Given the description of an element on the screen output the (x, y) to click on. 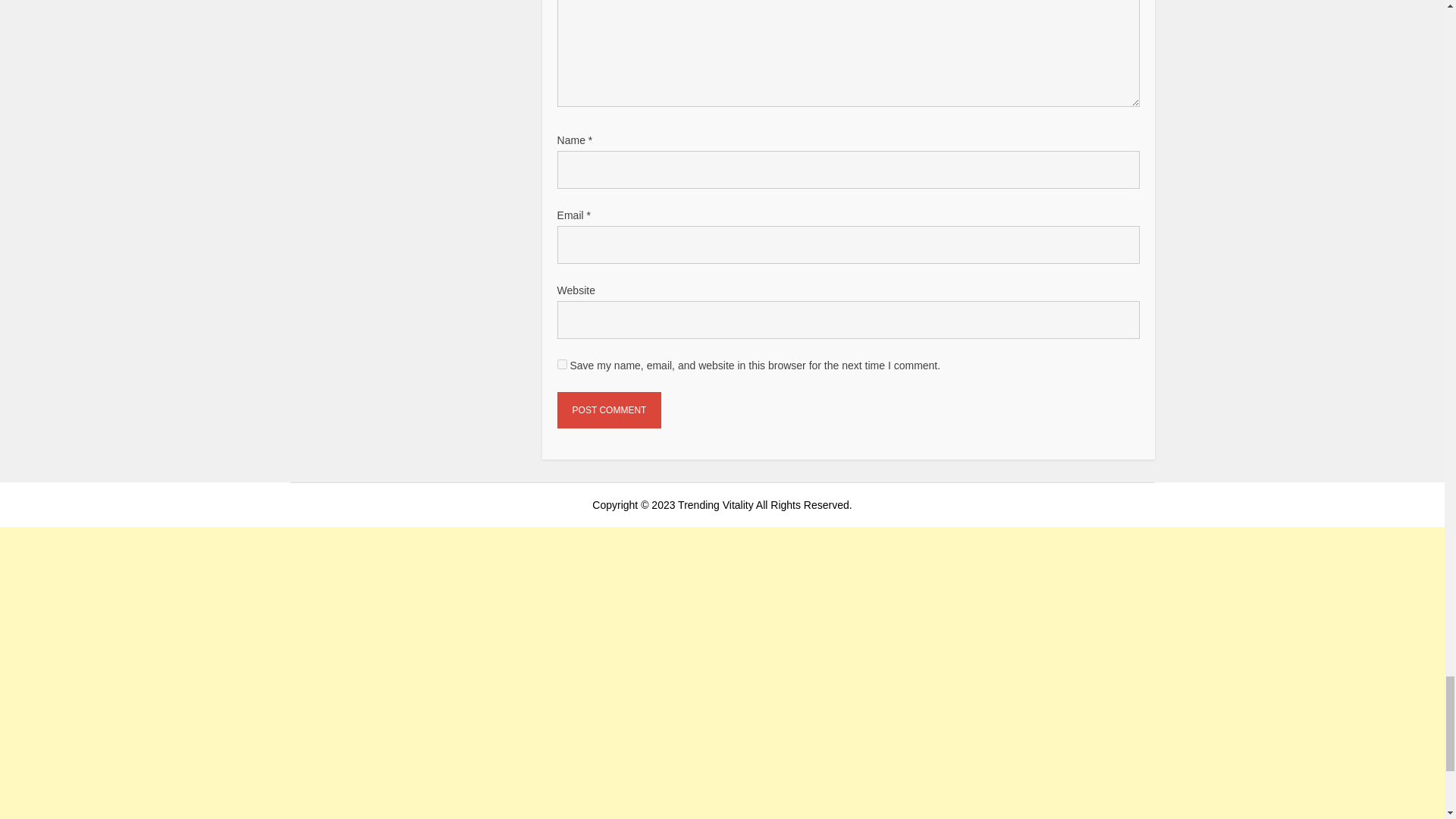
Post Comment (609, 410)
Post Comment (609, 410)
yes (562, 364)
